Given the description of an element on the screen output the (x, y) to click on. 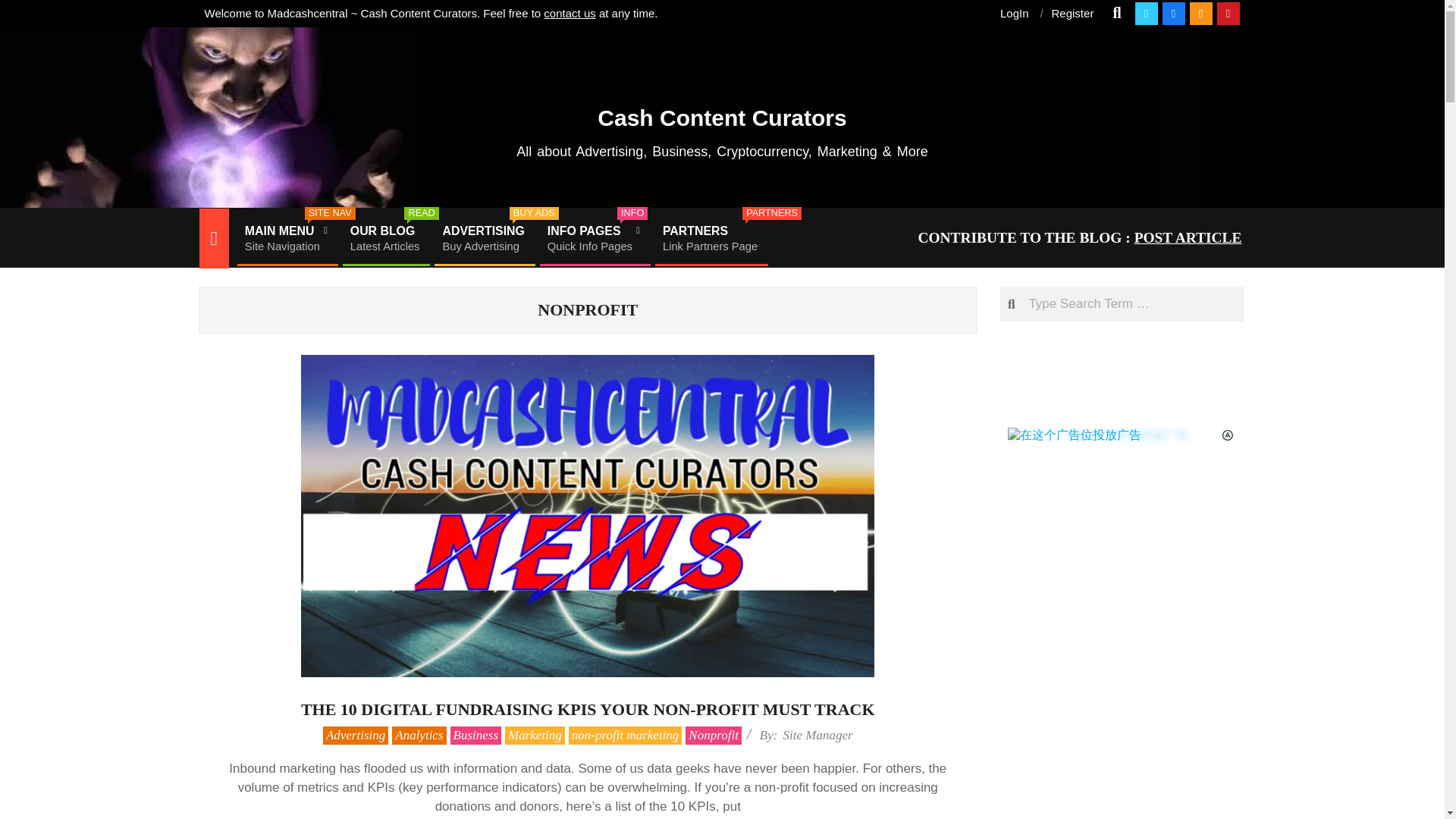
Register (721, 110)
Quick Info Pages (1072, 12)
LogIn (384, 238)
Search (592, 238)
Posts by Site Manager (1014, 12)
Site Navigation (24, 9)
contact us (818, 735)
